Given the description of an element on the screen output the (x, y) to click on. 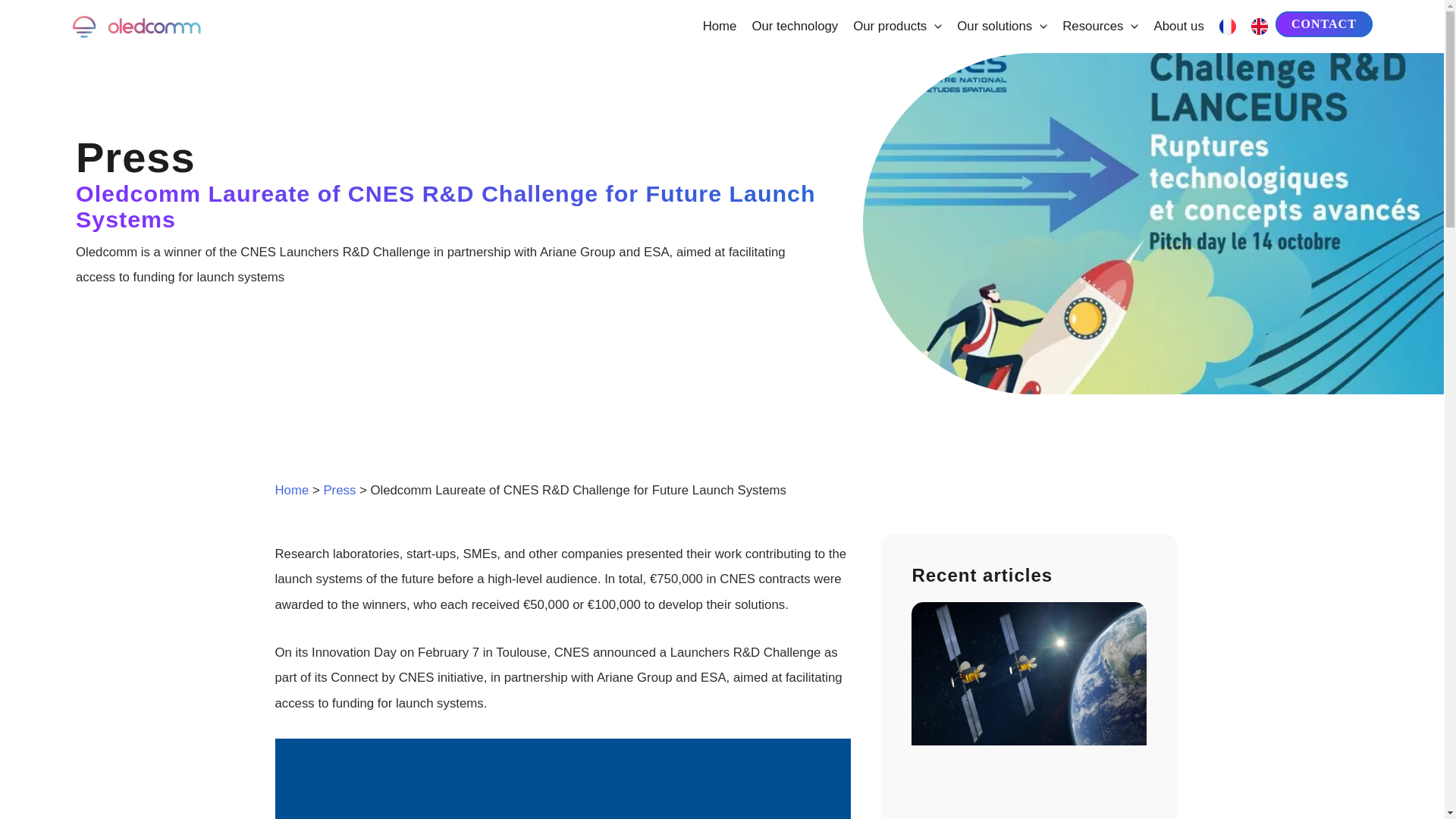
Our solutions (1001, 26)
CONTACT (1324, 23)
About us (1179, 26)
Resources (1099, 26)
Home (719, 26)
Our technology (794, 26)
Our products (897, 26)
